Given the description of an element on the screen output the (x, y) to click on. 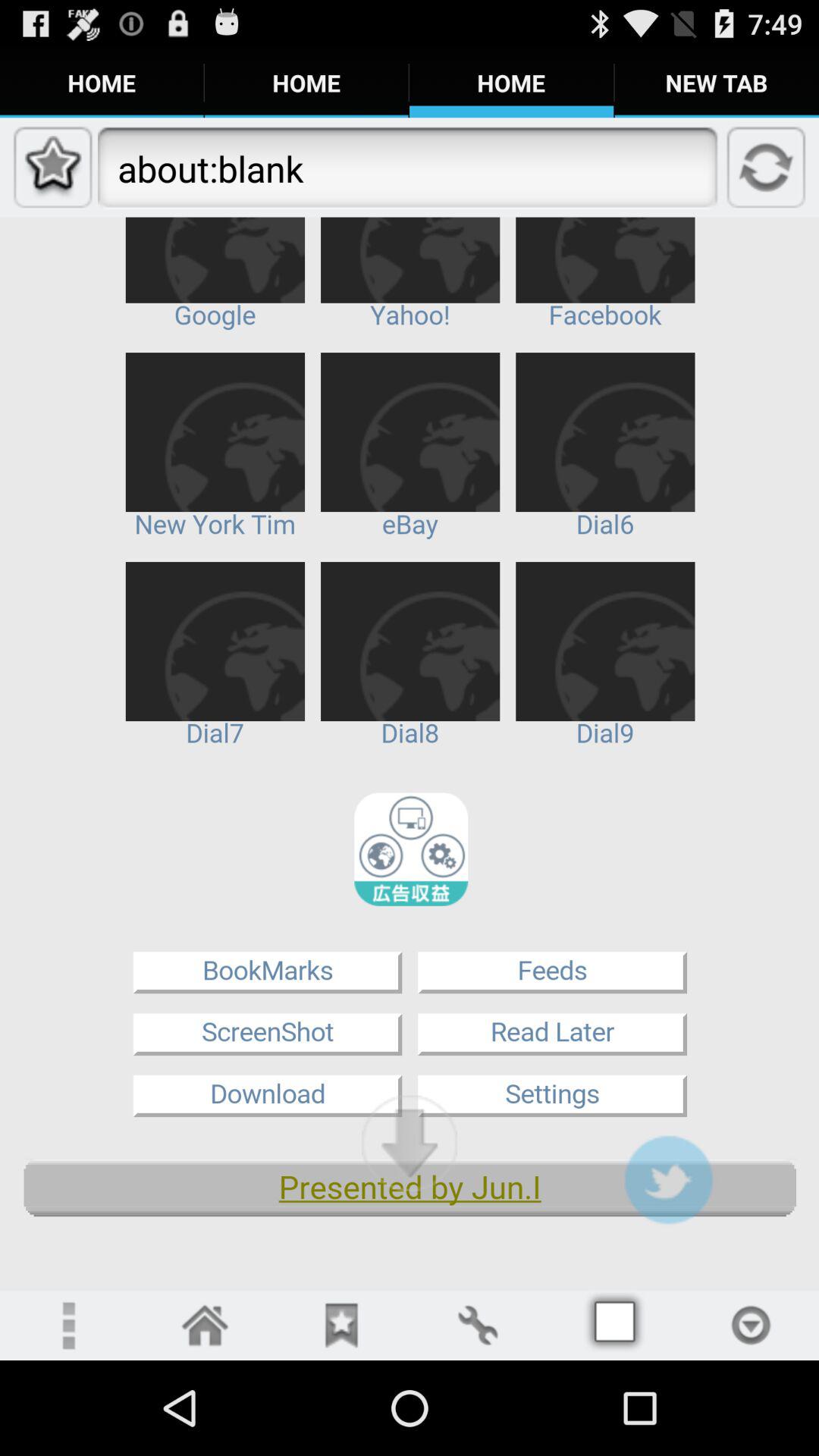
select from the list (750, 1325)
